Given the description of an element on the screen output the (x, y) to click on. 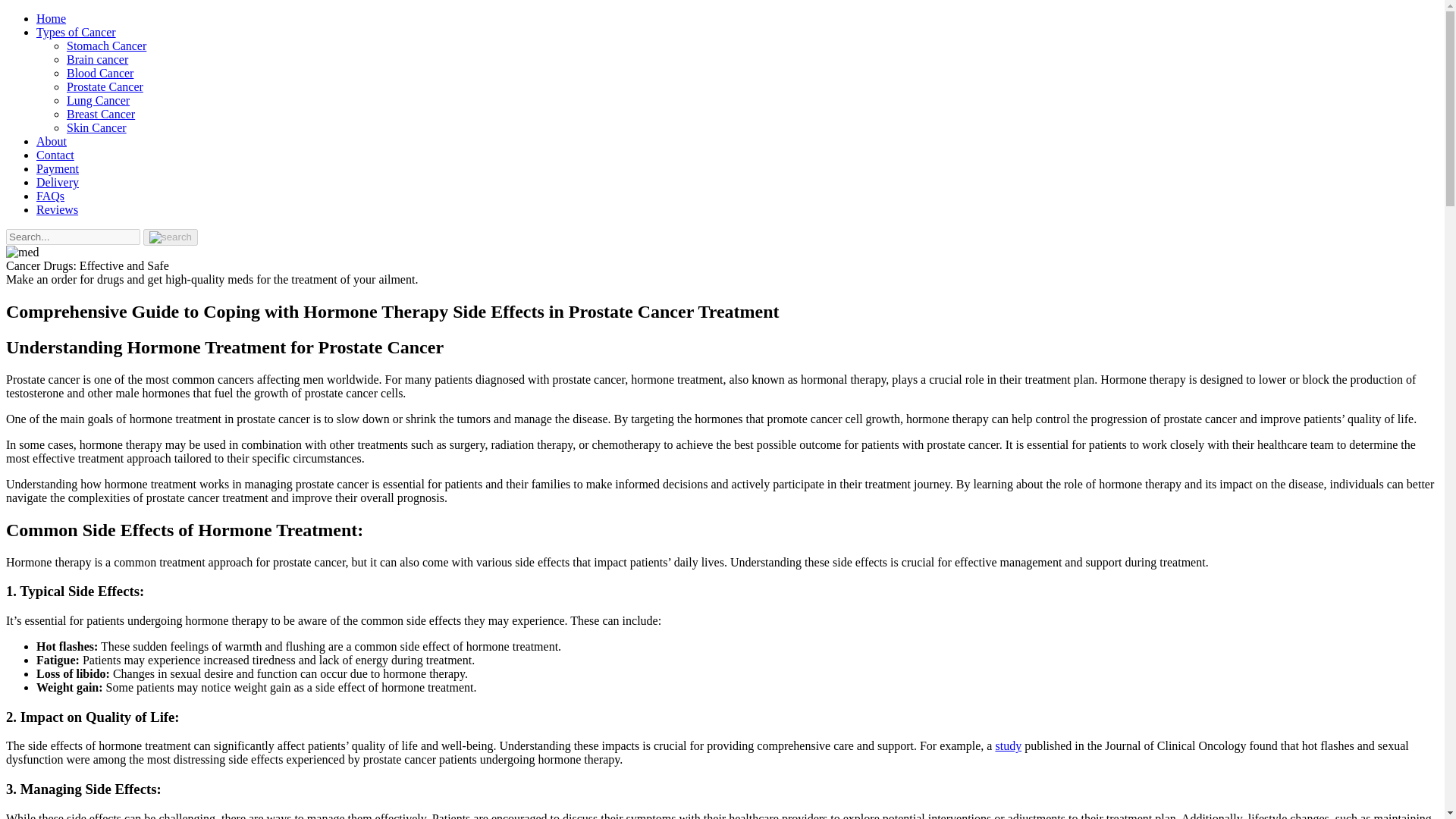
Home (50, 18)
Breast Cancer (100, 113)
Types of Cancer (76, 31)
Brain cancer (97, 59)
Lung Cancer (97, 100)
Contact (55, 154)
About (51, 141)
Prostate Cancer (104, 86)
Blood Cancer (99, 72)
FAQs (50, 195)
